Given the description of an element on the screen output the (x, y) to click on. 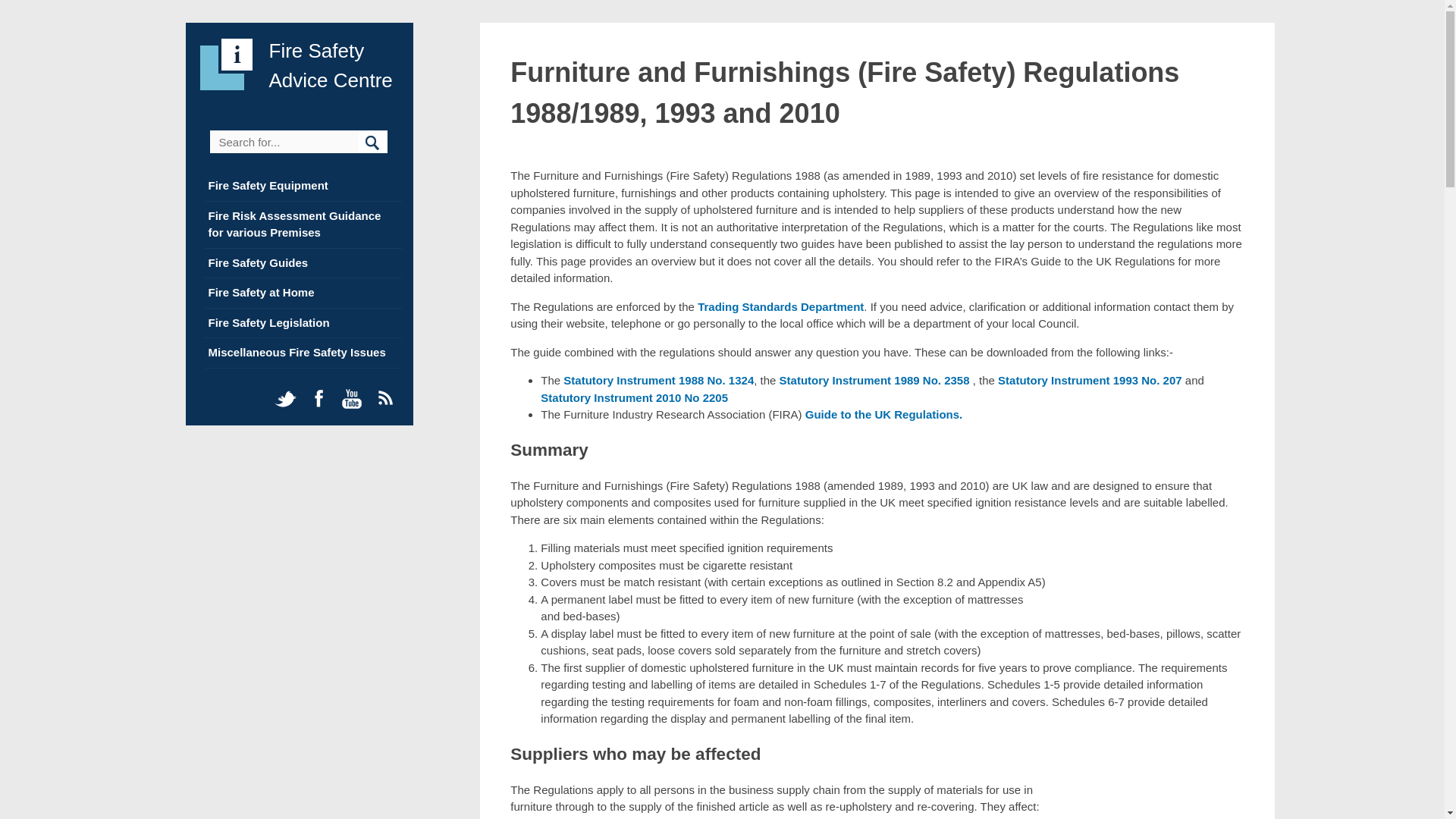
Fire Safety Equipment (267, 185)
Fire Safety Advice Centre (329, 65)
Fire Risk Assessment Guidance for various Premises (294, 224)
Fire Safety Guides (257, 262)
